Given the description of an element on the screen output the (x, y) to click on. 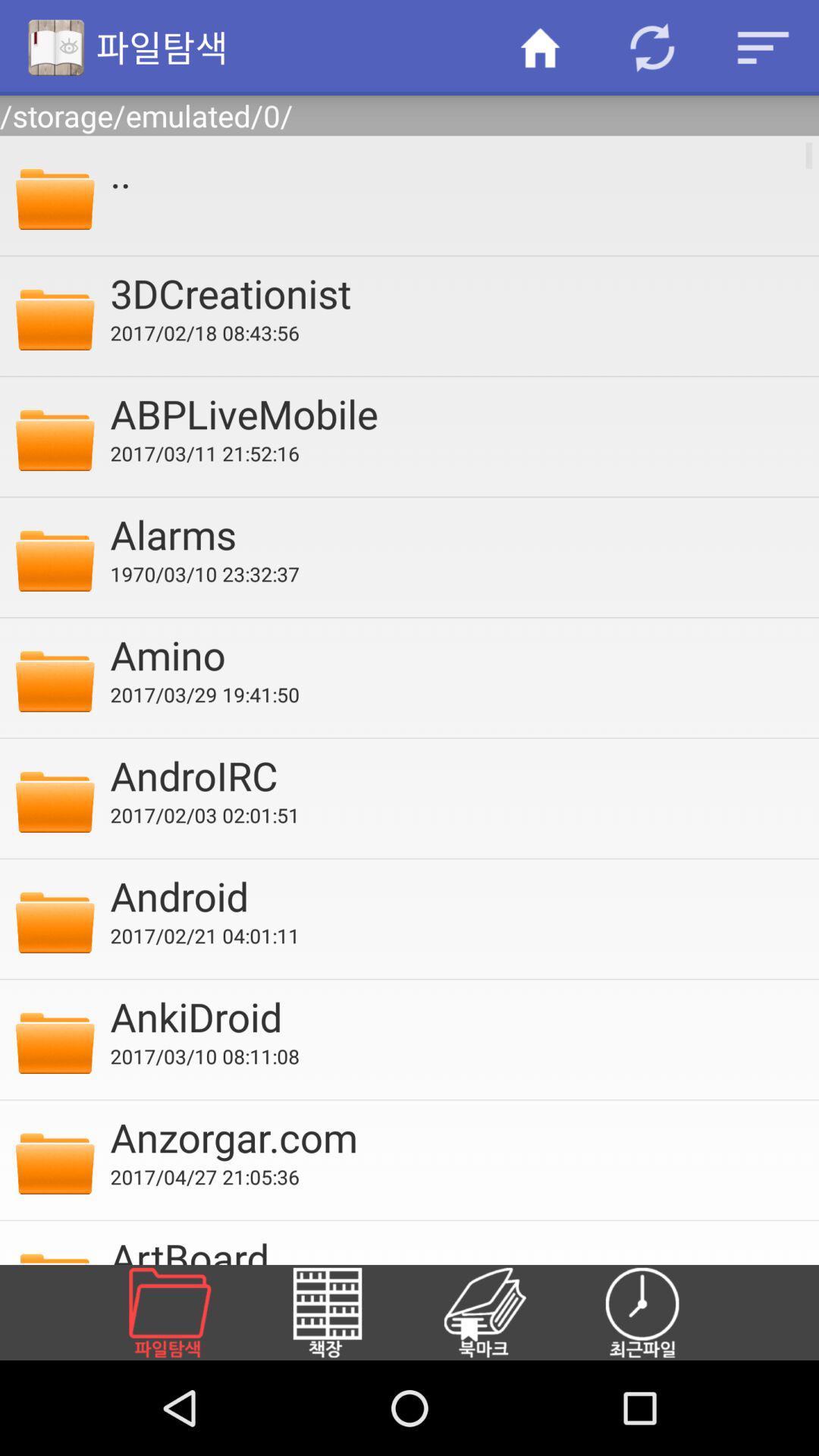
launch the artboard icon (454, 1247)
